Given the description of an element on the screen output the (x, y) to click on. 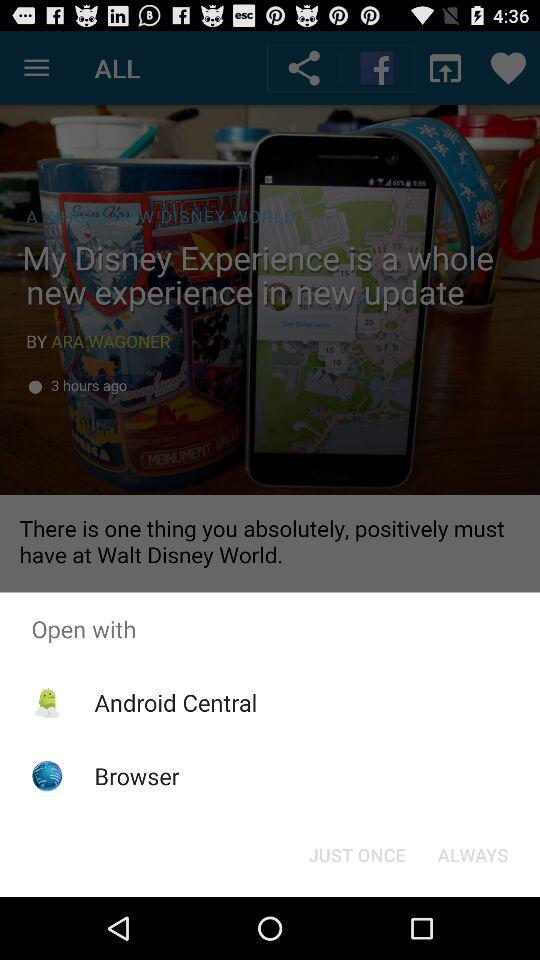
click the just once icon (356, 854)
